Given the description of an element on the screen output the (x, y) to click on. 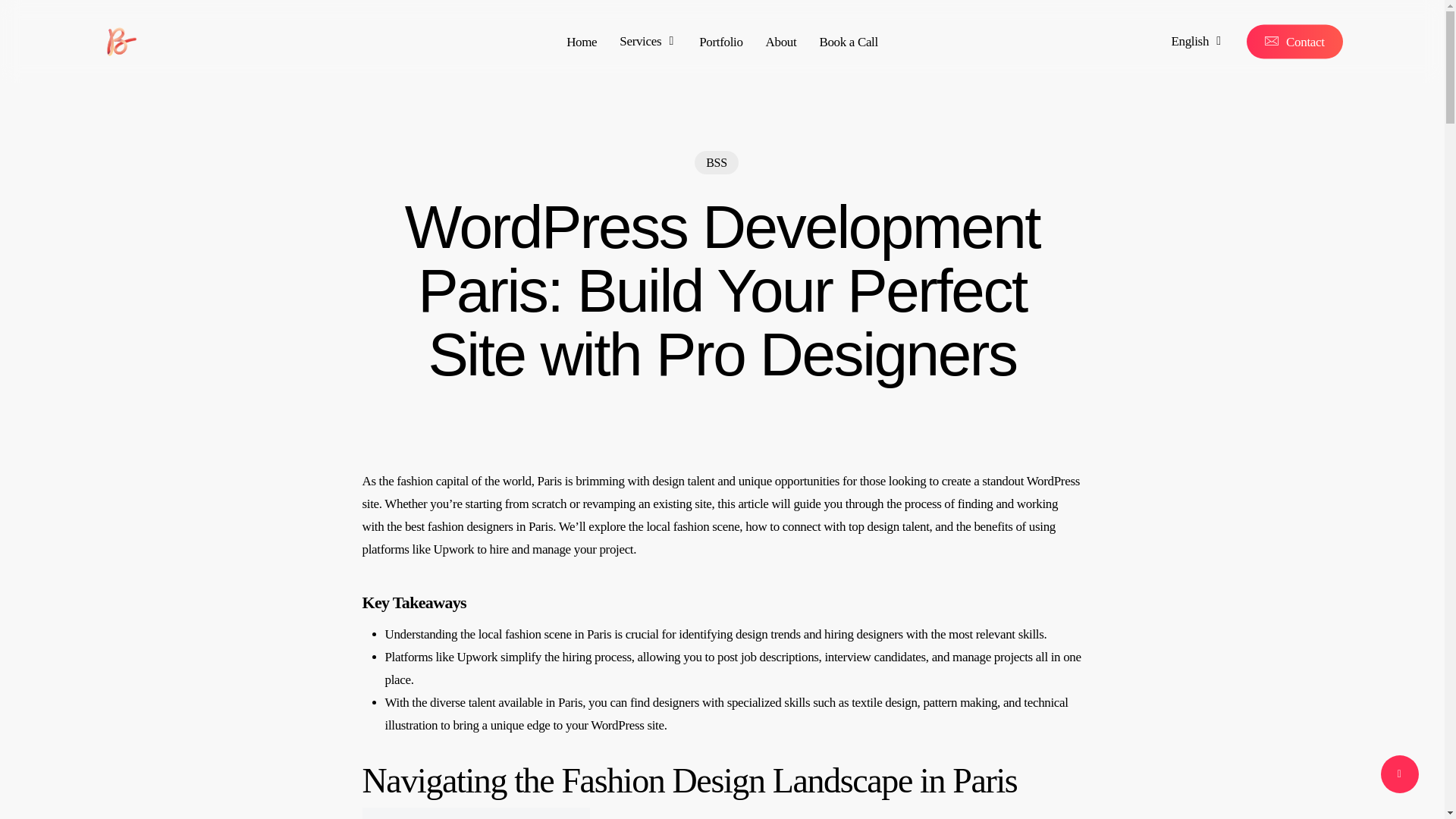
Services (648, 41)
BSS (716, 162)
Contact (1294, 41)
English (1195, 41)
English (1195, 41)
Home (581, 41)
Book a Call (847, 41)
About (780, 41)
Portfolio (720, 41)
